Given the description of an element on the screen output the (x, y) to click on. 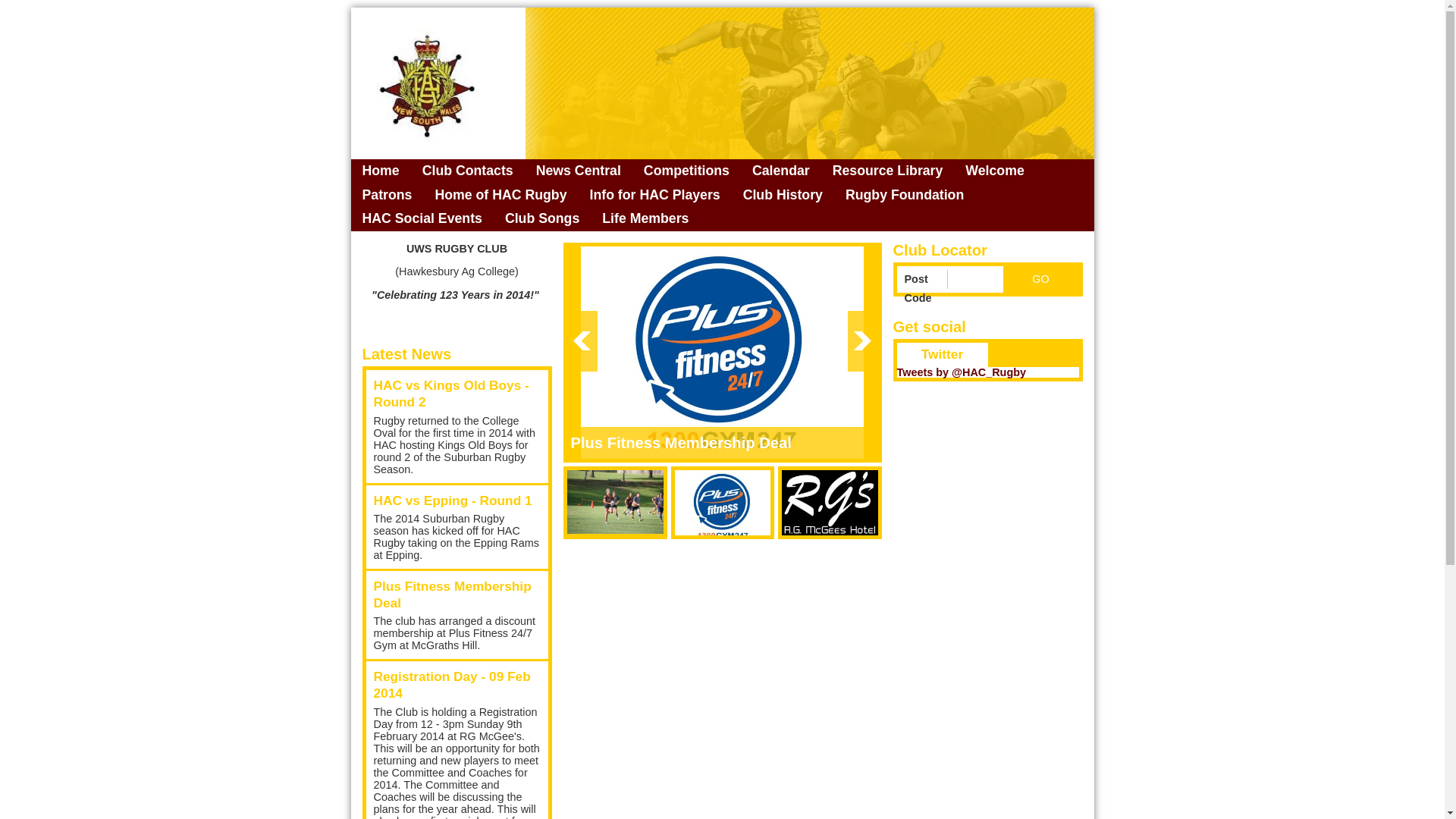
Home of HAC Rugby Element type: text (500, 195)
Info for HAC Players Element type: text (654, 195)
Club History Element type: text (782, 195)
Resource Library Element type: text (887, 171)
Club Songs Element type: text (541, 219)
Home Element type: text (380, 171)
HAC Social Events Element type: text (421, 219)
Life Members Element type: text (644, 219)
Tweets by @HAC_Rugby Element type: text (961, 372)
Patrons Element type: text (386, 195)
Club Contacts Element type: text (467, 171)
Welcome Element type: text (994, 171)
Calendar Element type: text (780, 171)
News Central Element type: text (578, 171)
Go Element type: text (1040, 279)
Rugby Foundation Element type: text (904, 195)
Competitions Element type: text (686, 171)
Twitter Element type: text (941, 354)
